Given the description of an element on the screen output the (x, y) to click on. 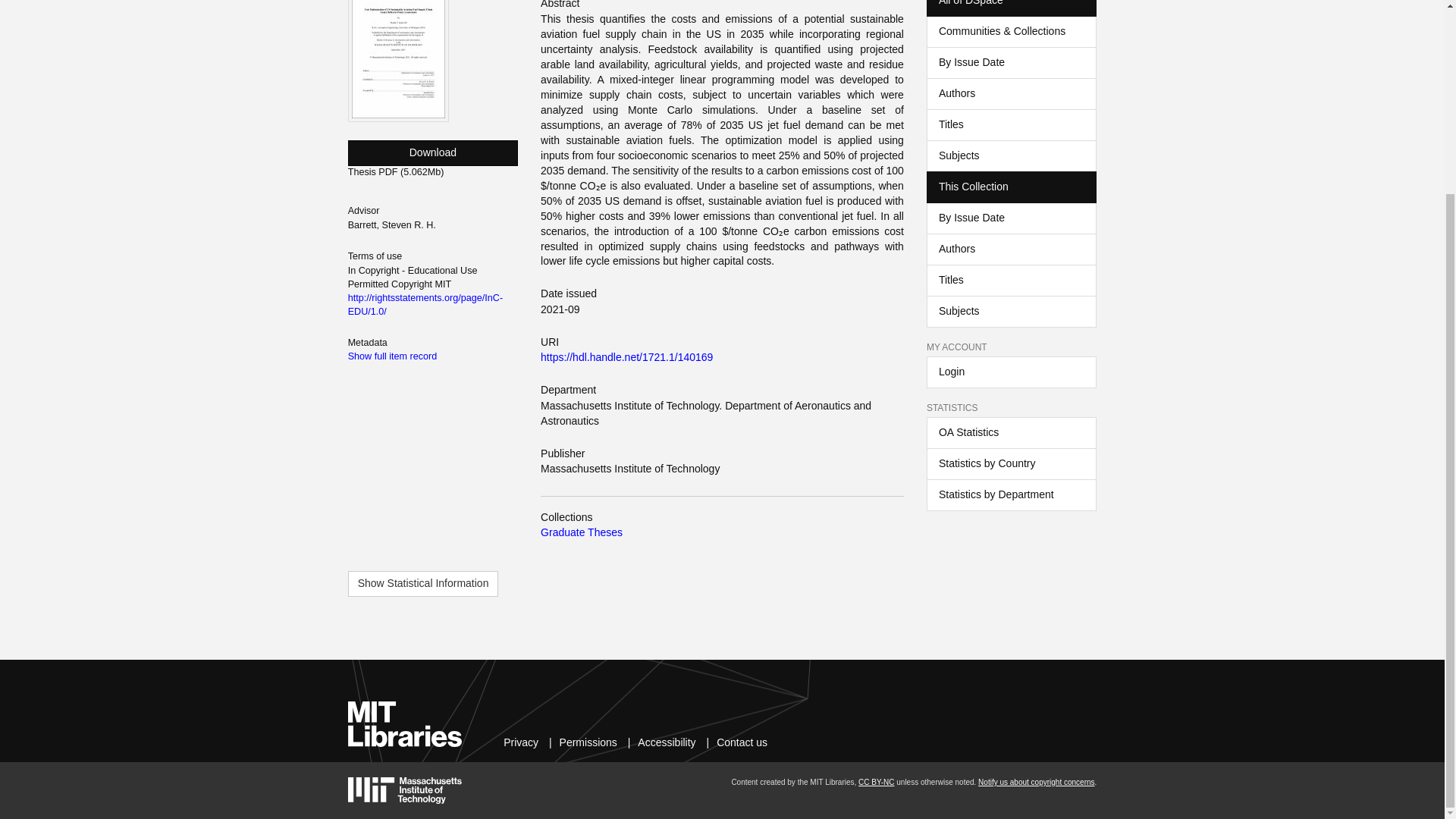
OA Statistics (1011, 432)
Permissions (588, 742)
Subjects (1011, 155)
Authors (1011, 93)
Titles (1011, 124)
Subjects (1011, 311)
All of DSpace (1011, 8)
Login (1011, 372)
Authors (1011, 249)
Privacy (520, 742)
